Given the description of an element on the screen output the (x, y) to click on. 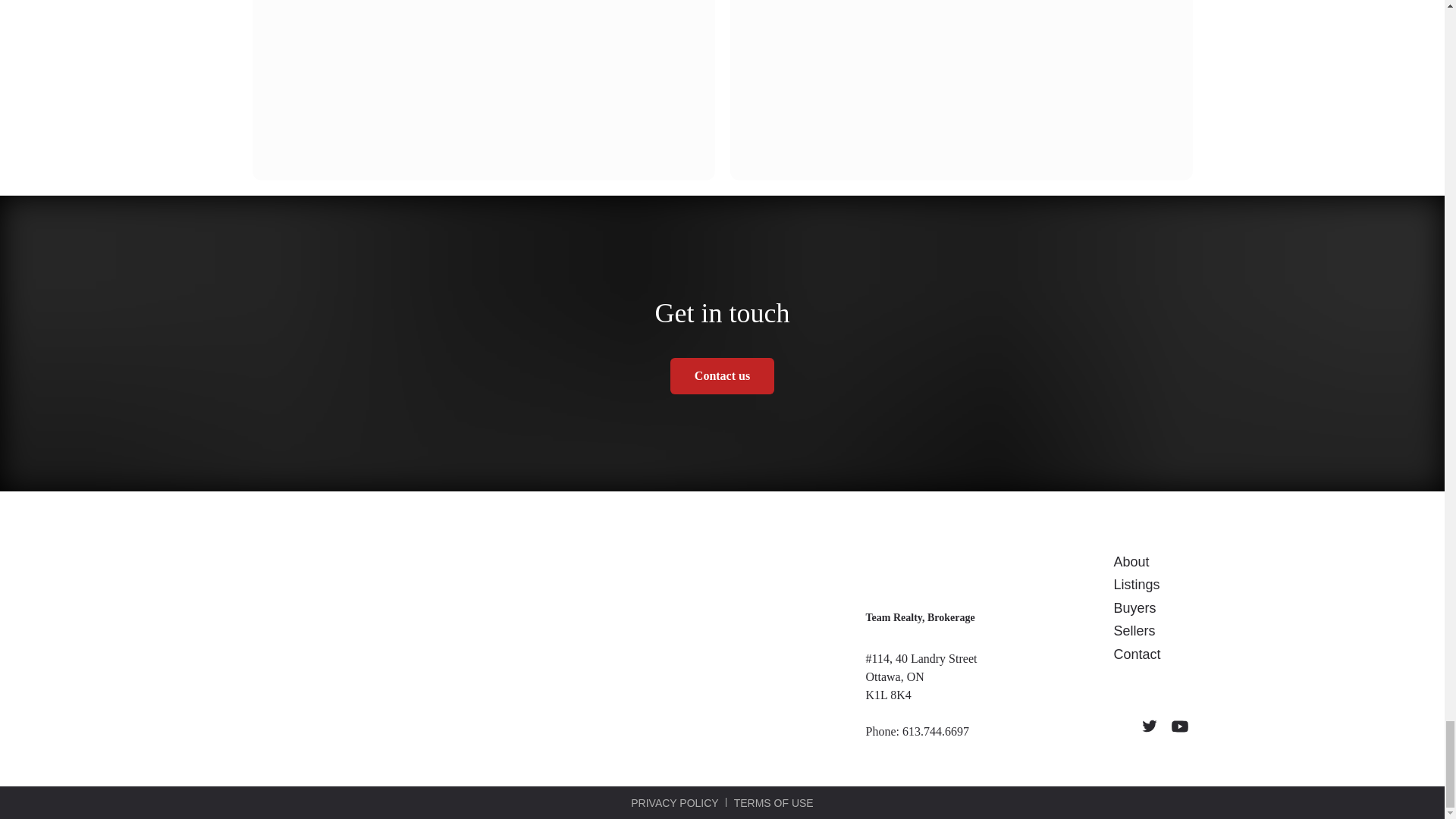
PRIVACY POLICY (674, 803)
Buyers (1134, 607)
About (1130, 561)
Contact us (721, 375)
Listings (1135, 584)
Sellers (1133, 630)
TERMS OF USE (773, 803)
